Given the description of an element on the screen output the (x, y) to click on. 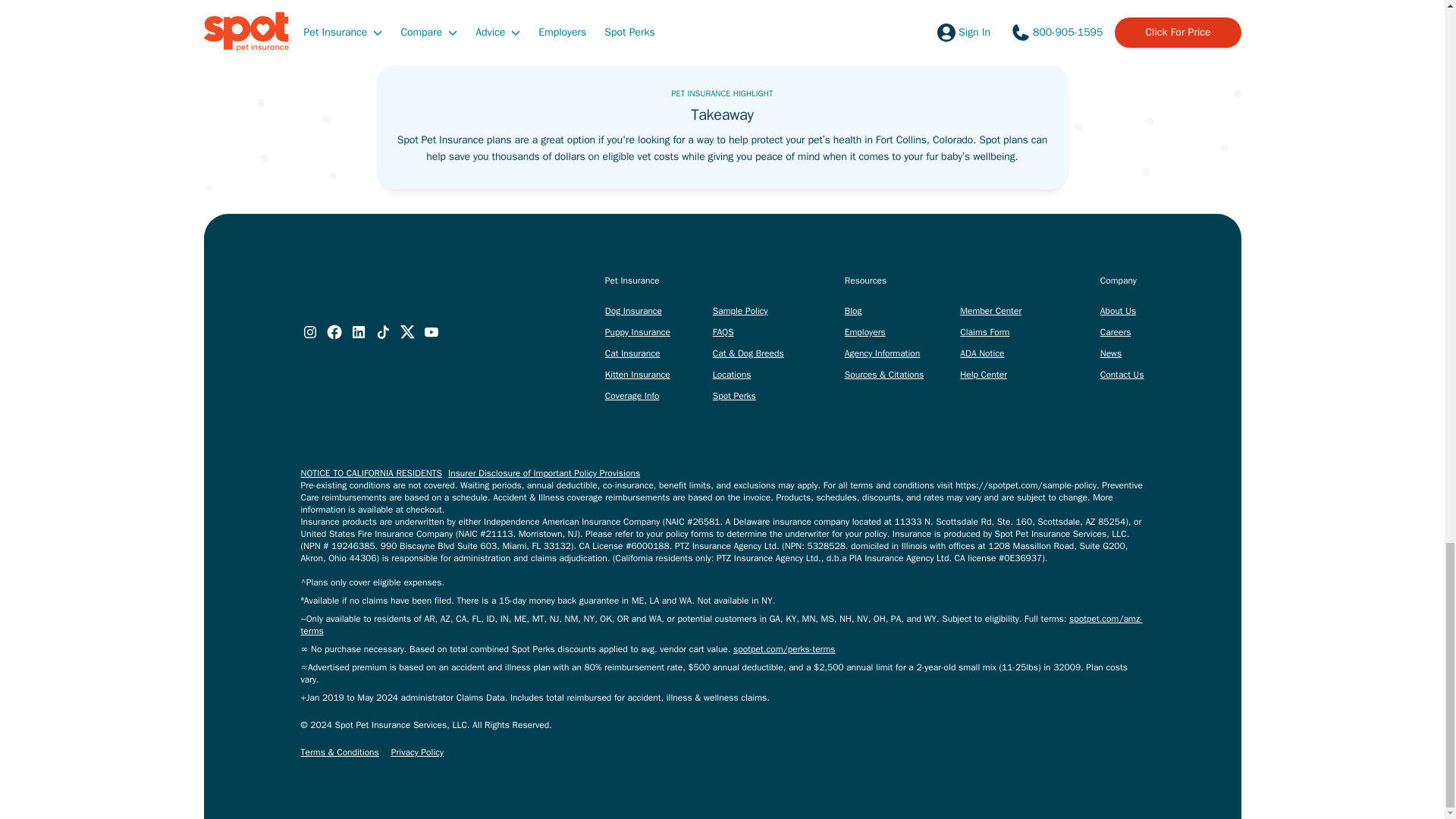
Spot on YouTube (430, 331)
Spot on TikTok (381, 331)
FAQS (723, 331)
Spot on Instagram (308, 331)
Coverage Info (632, 395)
Spot on X (405, 331)
Cat Insurance (633, 353)
Spot on Facebook (333, 331)
Sample Policy (740, 310)
Dog Insurance (633, 310)
